Given the description of an element on the screen output the (x, y) to click on. 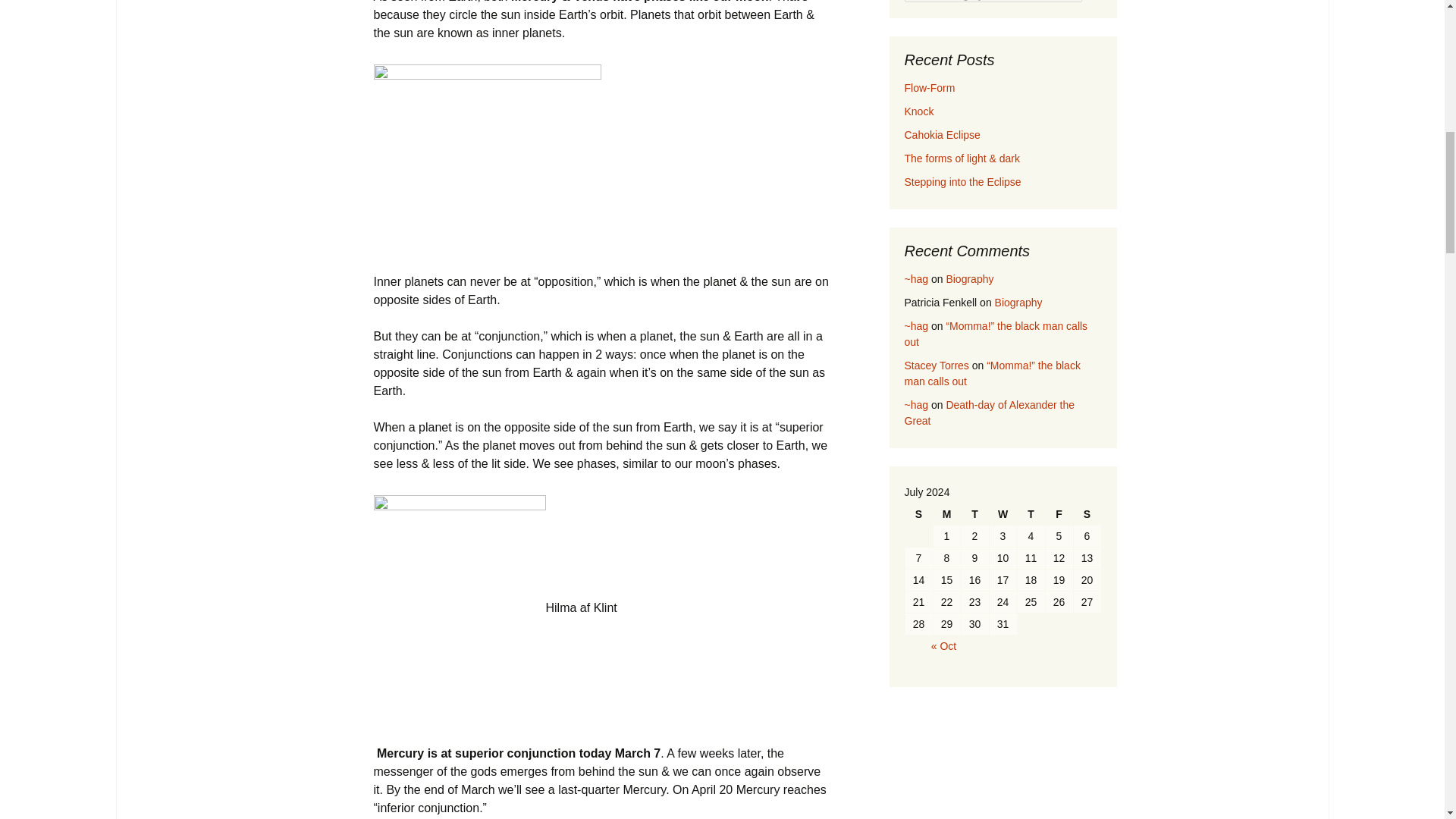
Monday (946, 513)
Sunday (919, 513)
